Given the description of an element on the screen output the (x, y) to click on. 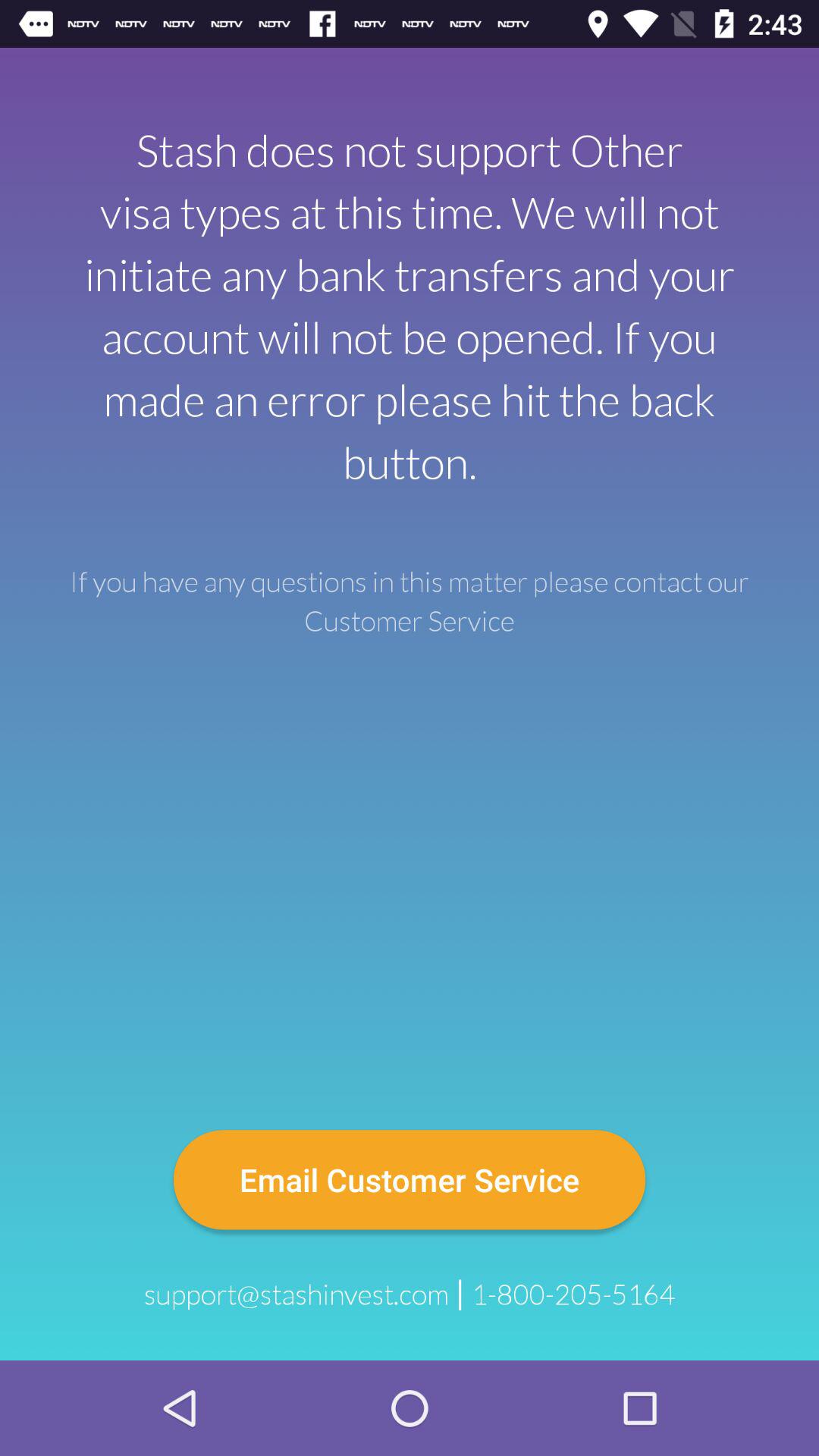
click the item below email customer service item (573, 1294)
